Given the description of an element on the screen output the (x, y) to click on. 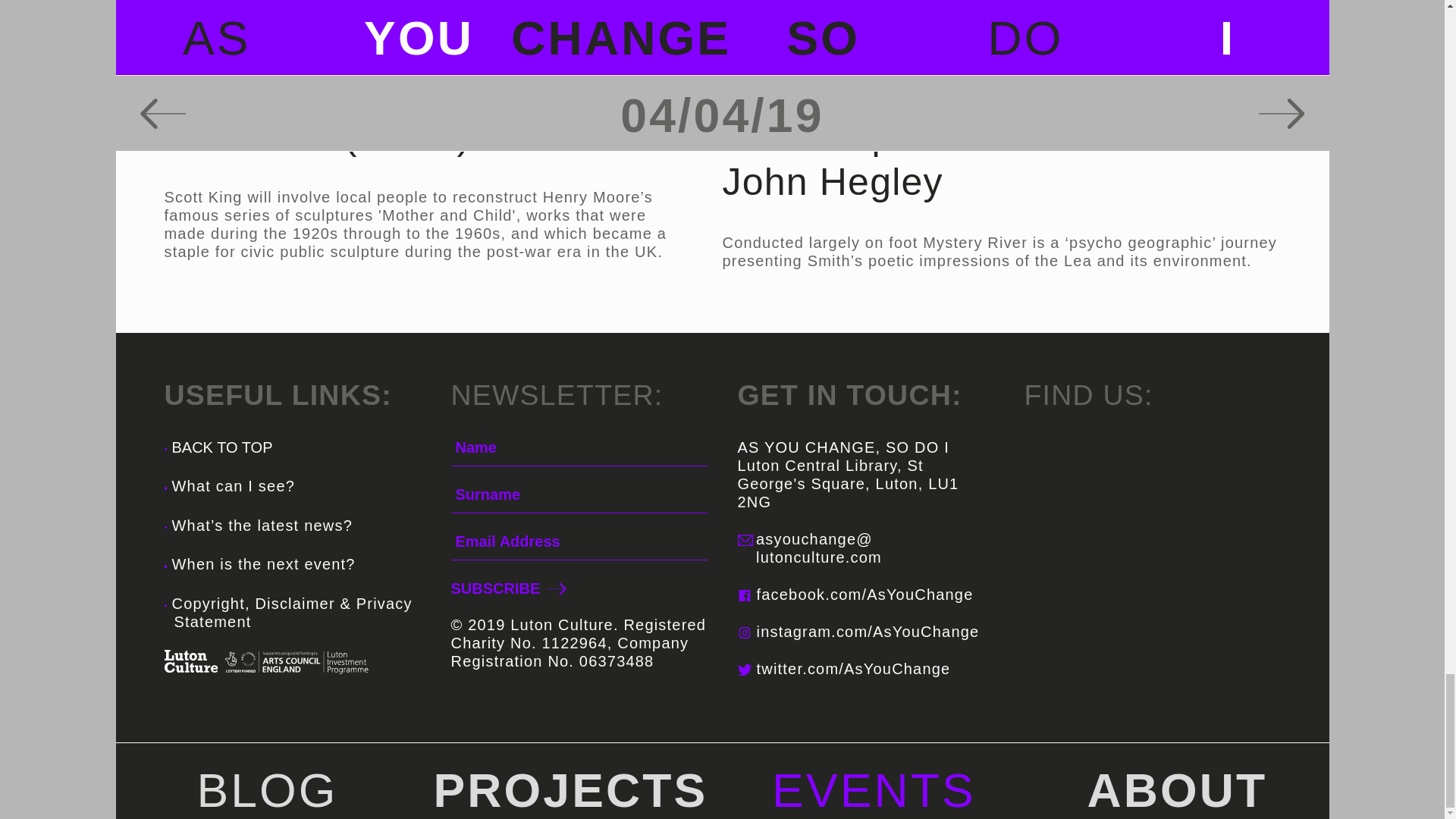
Instagram (743, 632)
What can I see? (233, 485)
SUBSCRIBE NEXT (505, 588)
Facebook (743, 595)
Luton Culture (189, 661)
When is the next event? (263, 564)
Email (744, 540)
Twitter (743, 669)
NEXT (556, 588)
BACK TO TOP (217, 457)
Luton Culture (189, 659)
